Given the description of an element on the screen output the (x, y) to click on. 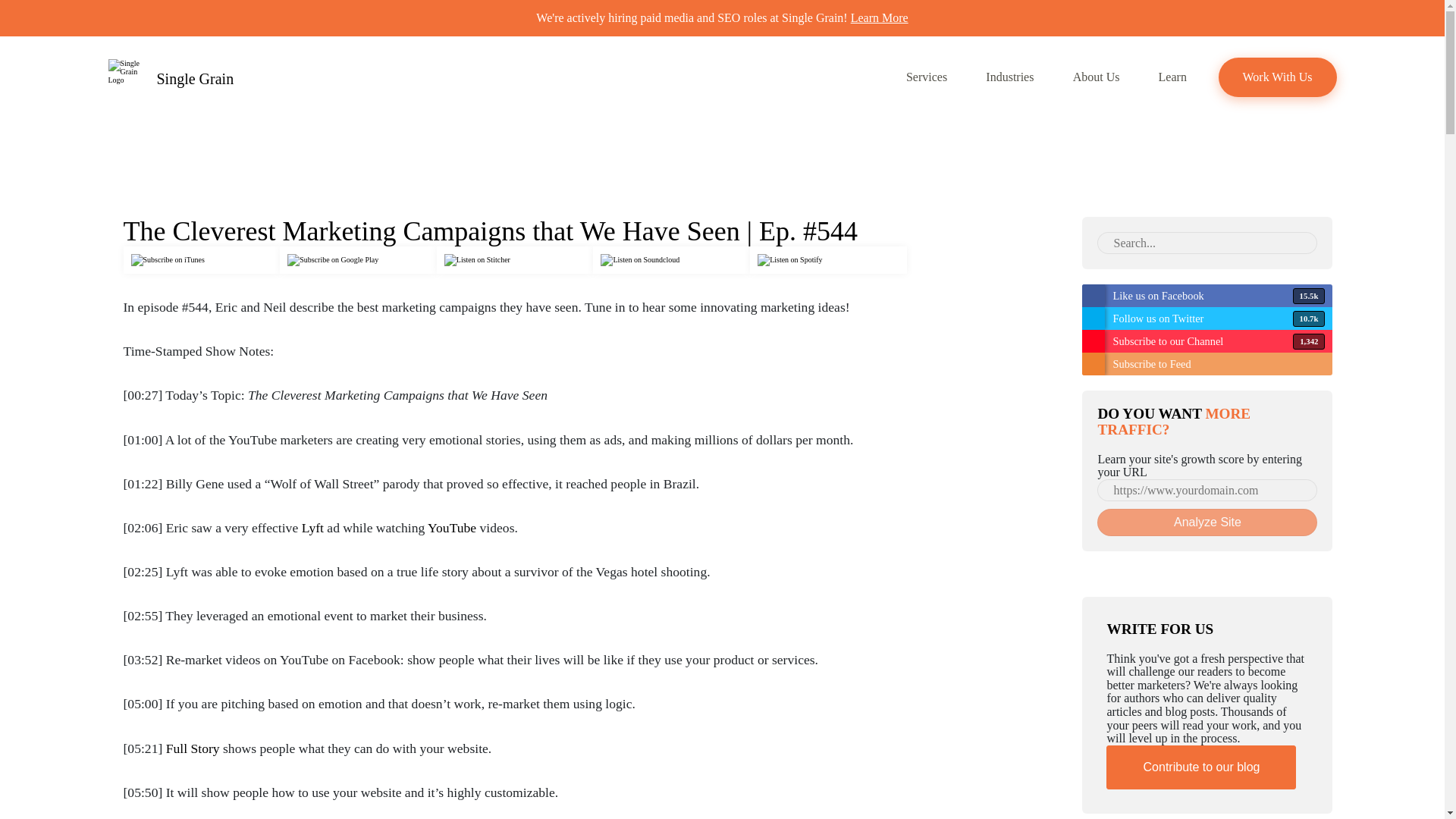
Learn (1172, 77)
Analyze Site (1207, 522)
Services (926, 77)
Single Grain (169, 76)
Learn More (879, 17)
About Us (1095, 77)
Services (926, 77)
Single Grain (169, 76)
Industries (1009, 77)
About Us (1095, 77)
